Given the description of an element on the screen output the (x, y) to click on. 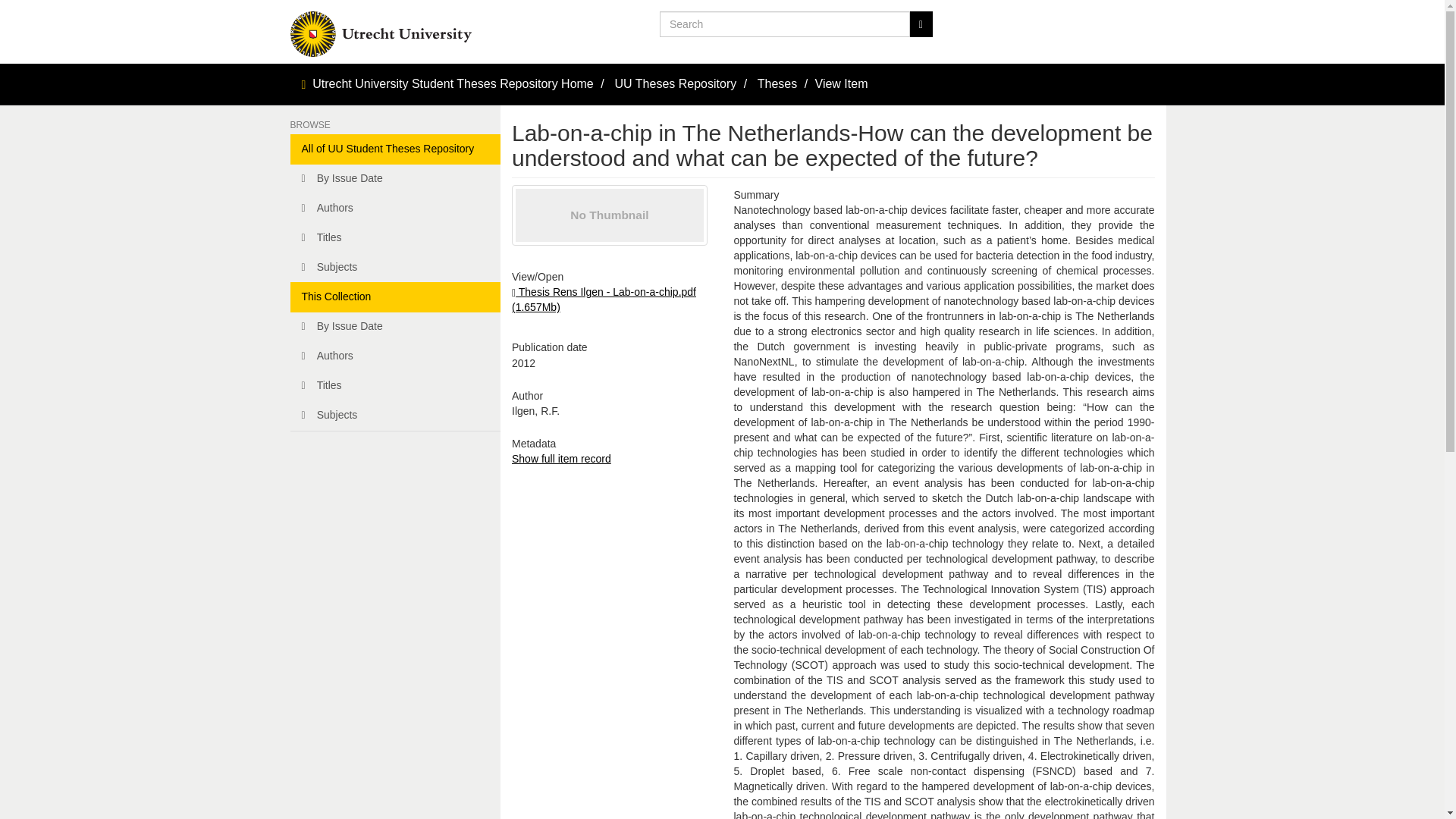
Subjects (394, 267)
UU Theses Repository (675, 83)
Theses (776, 83)
Titles (394, 386)
Utrecht University Student Theses Repository Home (453, 83)
This Collection (394, 296)
Authors (394, 208)
By Issue Date (394, 327)
Go (920, 23)
Show full item record (561, 458)
